Given the description of an element on the screen output the (x, y) to click on. 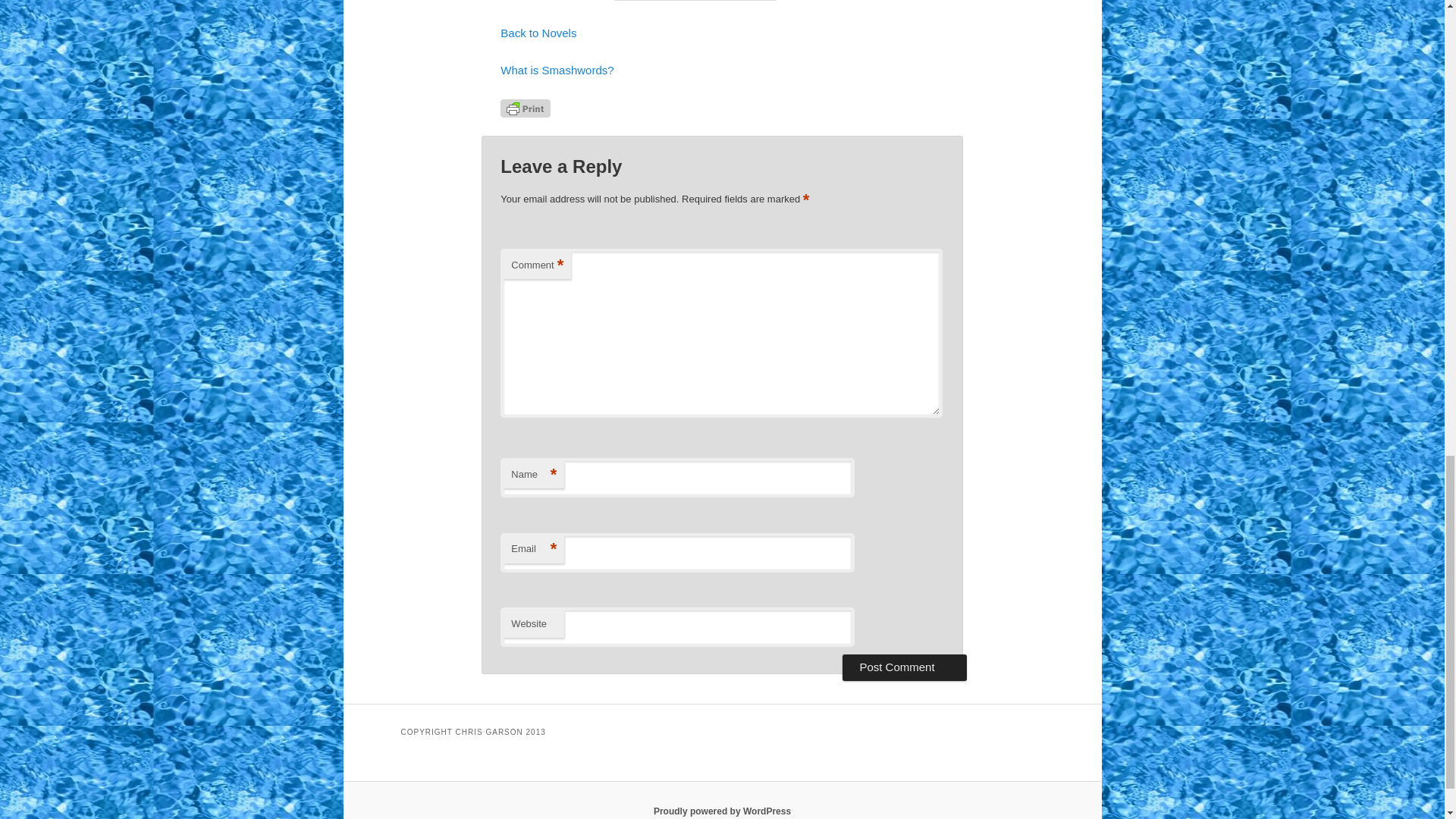
What is Smashwords? (556, 69)
Semantic Personal Publishing Platform (721, 810)
Post Comment (904, 667)
Novels (538, 32)
